Given the description of an element on the screen output the (x, y) to click on. 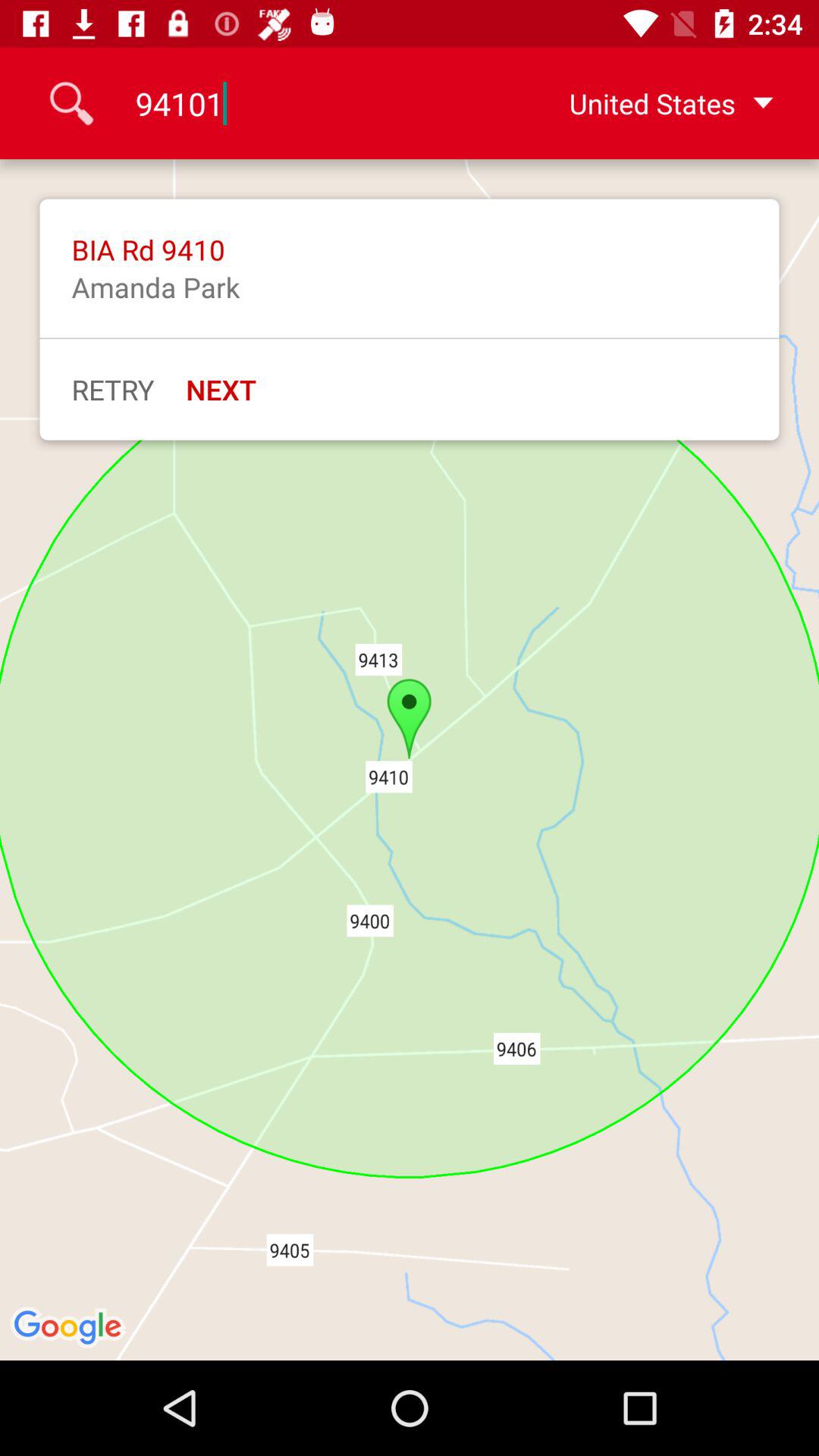
launch icon next to the next item (112, 389)
